Given the description of an element on the screen output the (x, y) to click on. 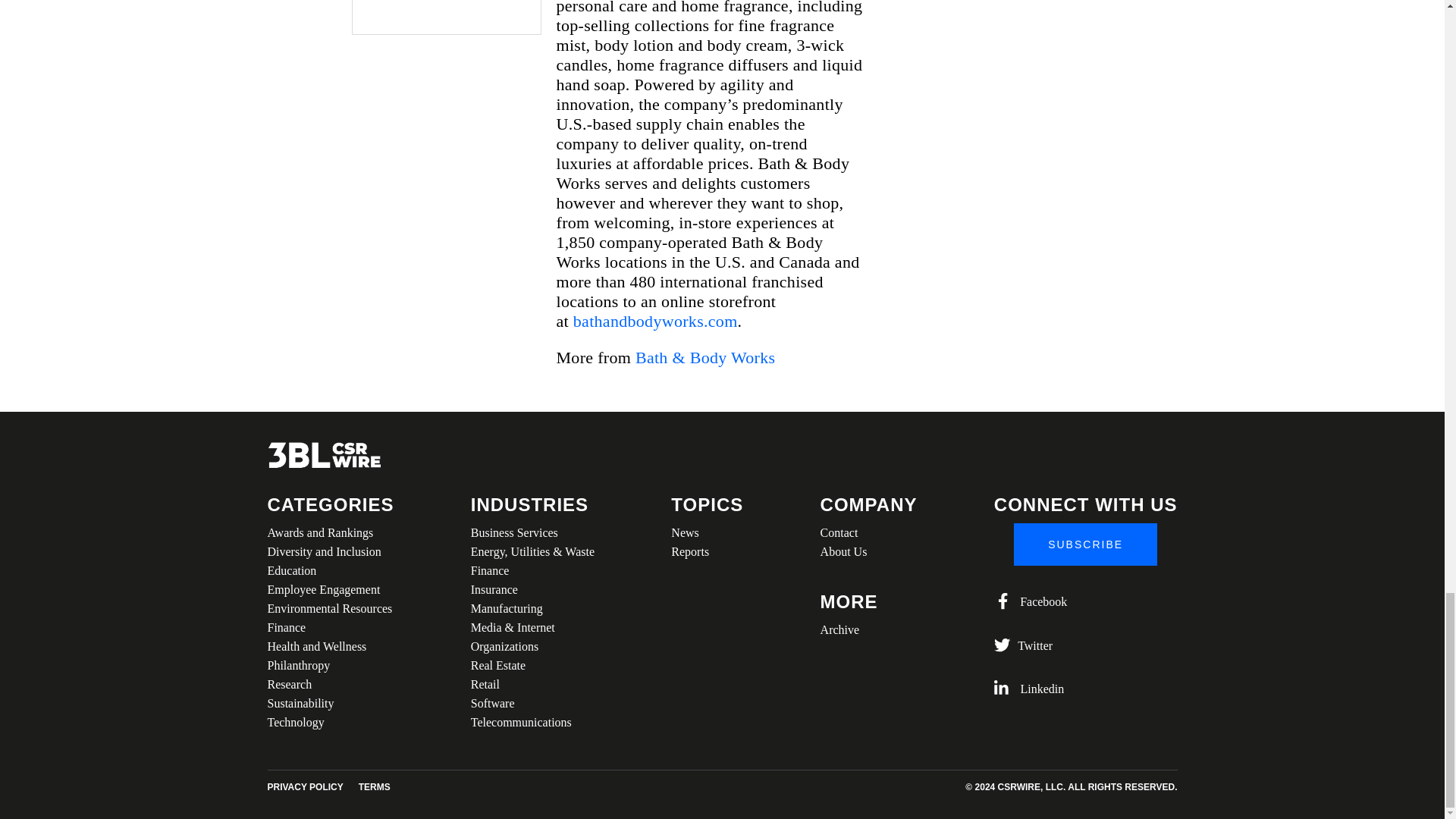
bathandbodyworks.com (655, 321)
CATEGORIES (329, 504)
Awards and Rankings (329, 532)
Employee Engagement (329, 588)
Education (329, 570)
Diversity and Inclusion (329, 551)
Environmental Resources (329, 608)
